Given the description of an element on the screen output the (x, y) to click on. 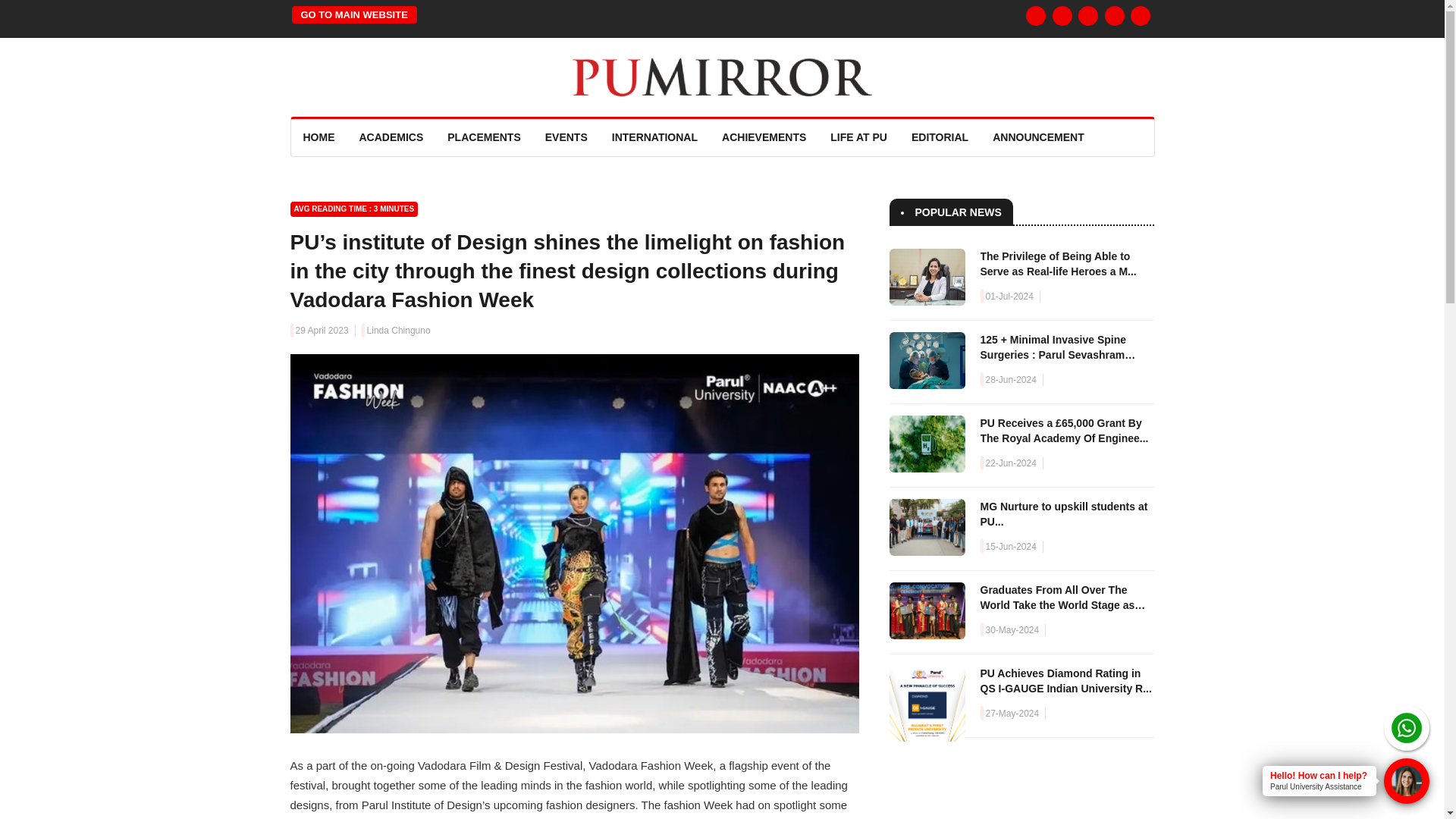
EVENTS (566, 137)
ACHIEVEMENTS (764, 137)
Facebook (1035, 15)
GO TO MAIN WEBSITE (353, 14)
INTERNATIONAL (654, 137)
ACADEMICS (391, 137)
Youtube (1140, 15)
MG Nurture to upskill students at PU... (1063, 513)
EDITORIAL (939, 137)
Twitter (1087, 15)
LIFE AT PU (858, 137)
HOME (318, 137)
